Given the description of an element on the screen output the (x, y) to click on. 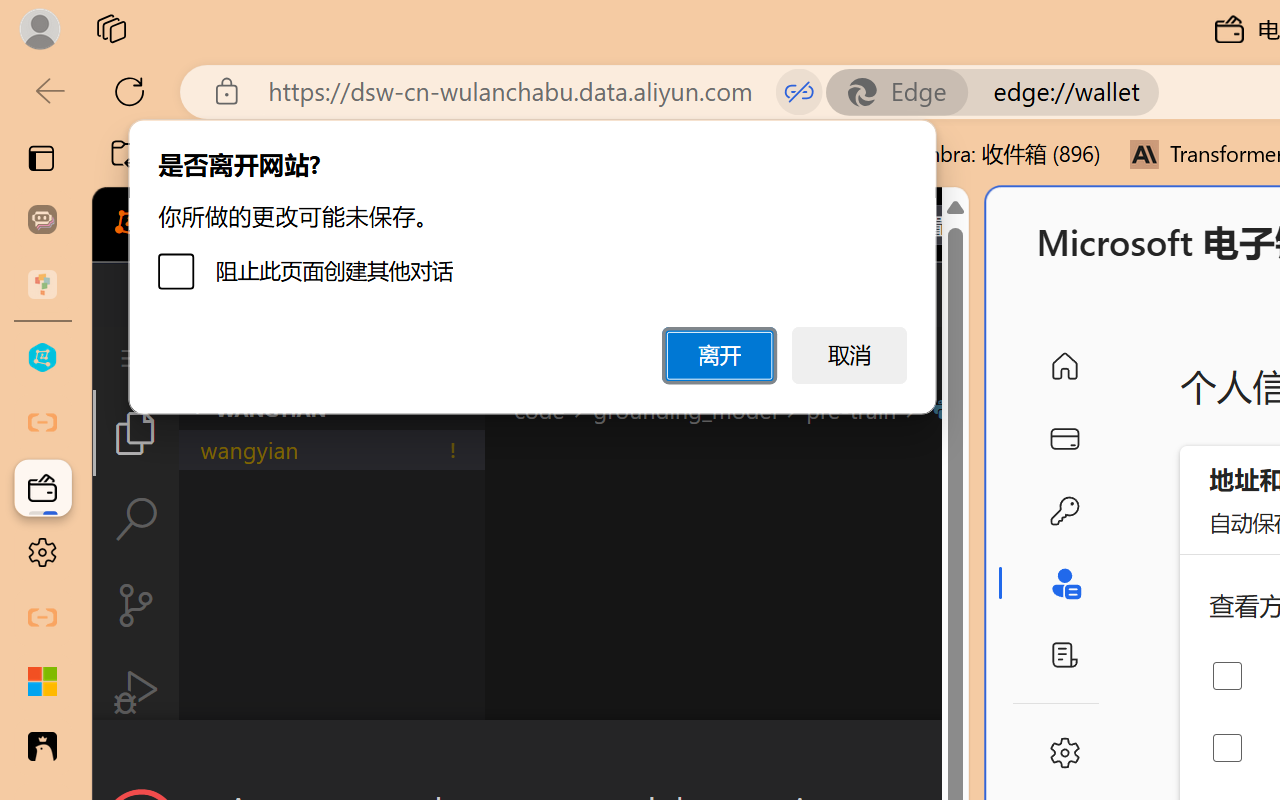
Adjust indents and spacing - Microsoft Support (42, 681)
